Given the description of an element on the screen output the (x, y) to click on. 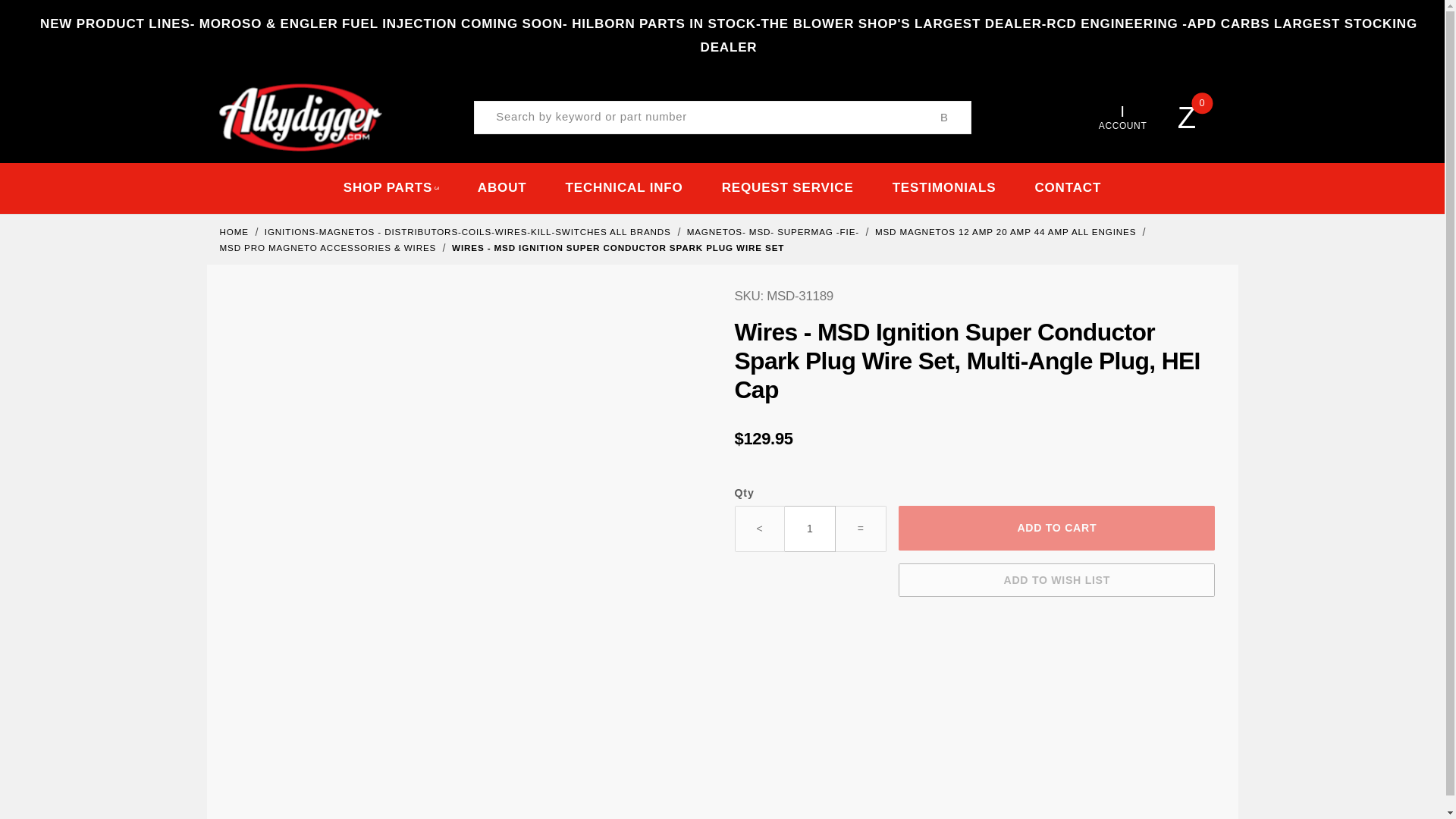
REQUEST SERVICE (786, 188)
ACCOUNT (1122, 117)
1 (809, 529)
ABOUT (502, 188)
Add to Wish List (1056, 580)
Sign In (1092, 301)
CONTACT (1067, 188)
TESTIMONIALS (943, 188)
0 (1198, 117)
MAGNETOS- MSD- SUPERMAG -FIE- (775, 231)
Alkydigger Fuel Injection-Superchargers-Ignitions (299, 116)
Home (235, 231)
Add To Cart (1056, 527)
TECHNICAL INFO (623, 188)
